Given the description of an element on the screen output the (x, y) to click on. 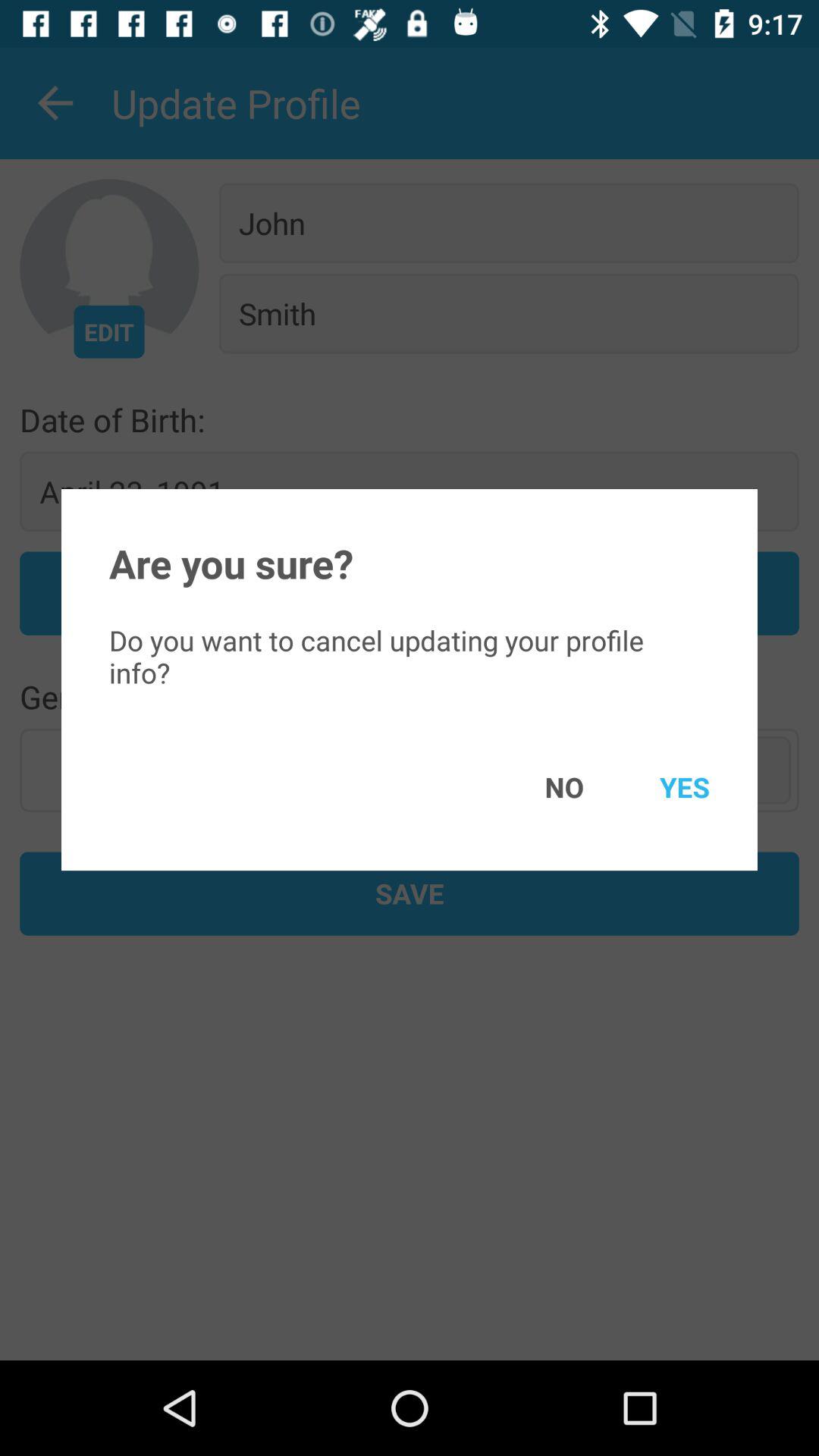
click icon next to the no item (662, 786)
